Given the description of an element on the screen output the (x, y) to click on. 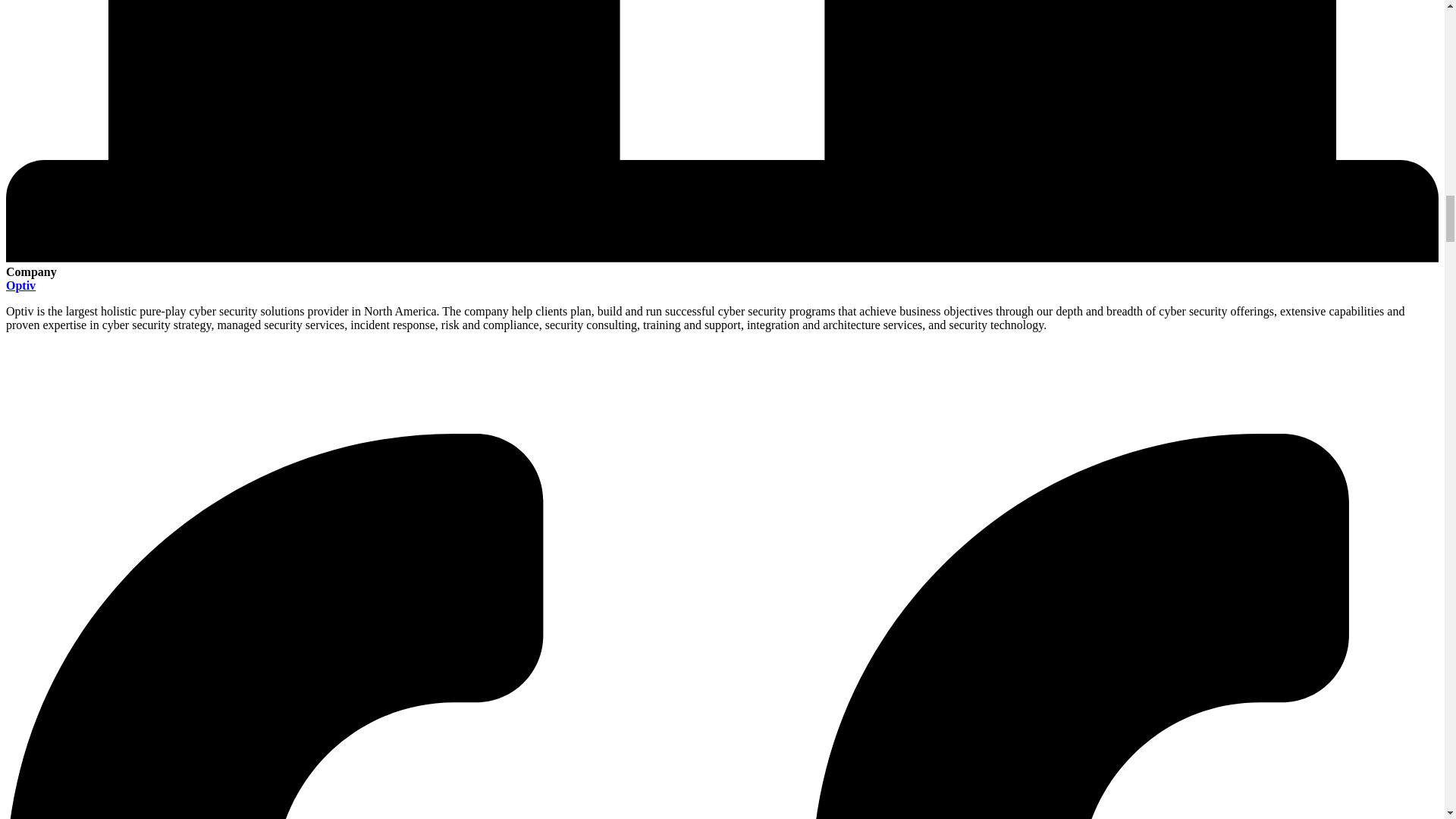
Optiv (19, 285)
